Given the description of an element on the screen output the (x, y) to click on. 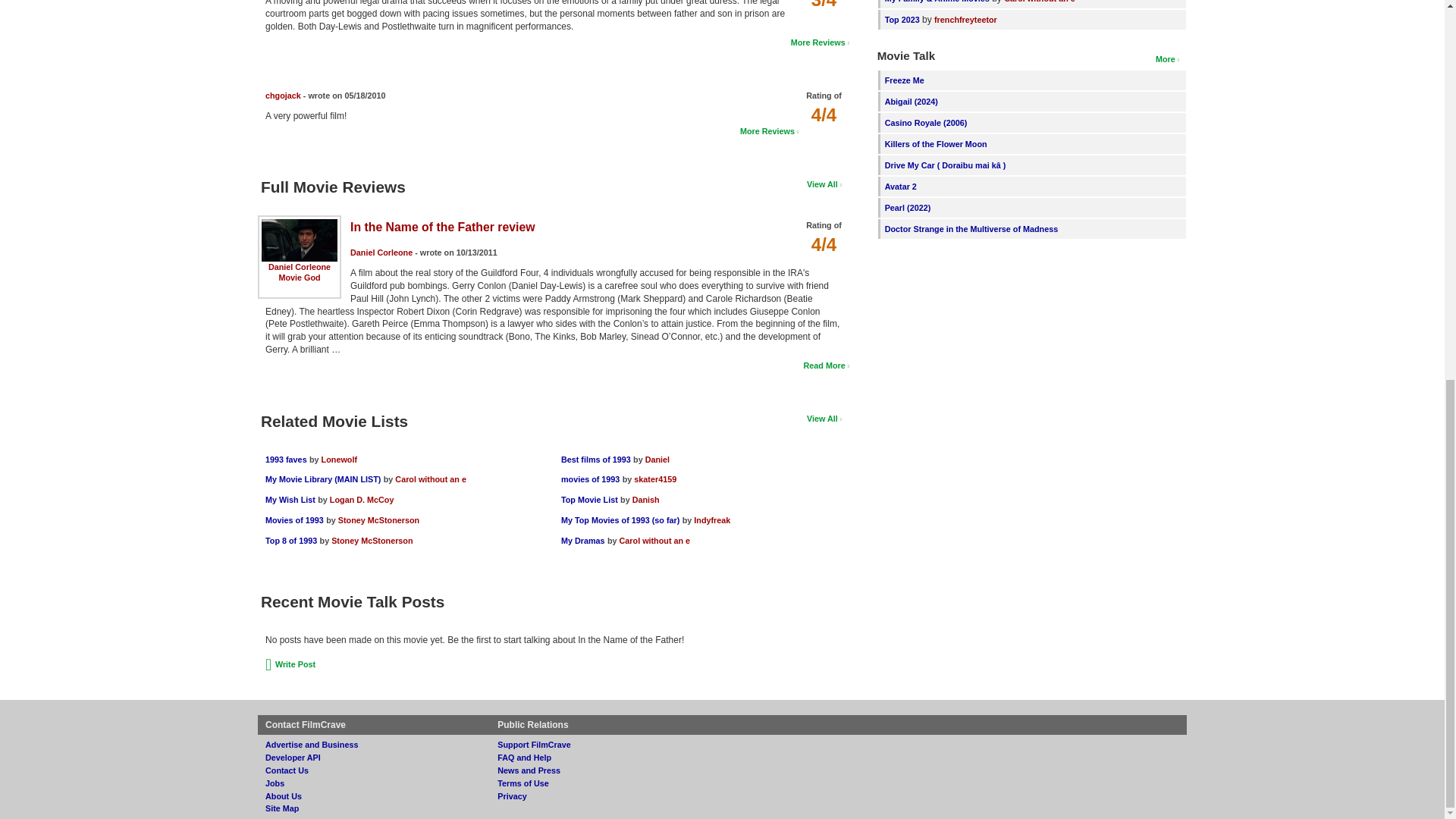
3 out of 4 stars (822, 4)
Read more reviews from mitchellyoung (819, 41)
